Given the description of an element on the screen output the (x, y) to click on. 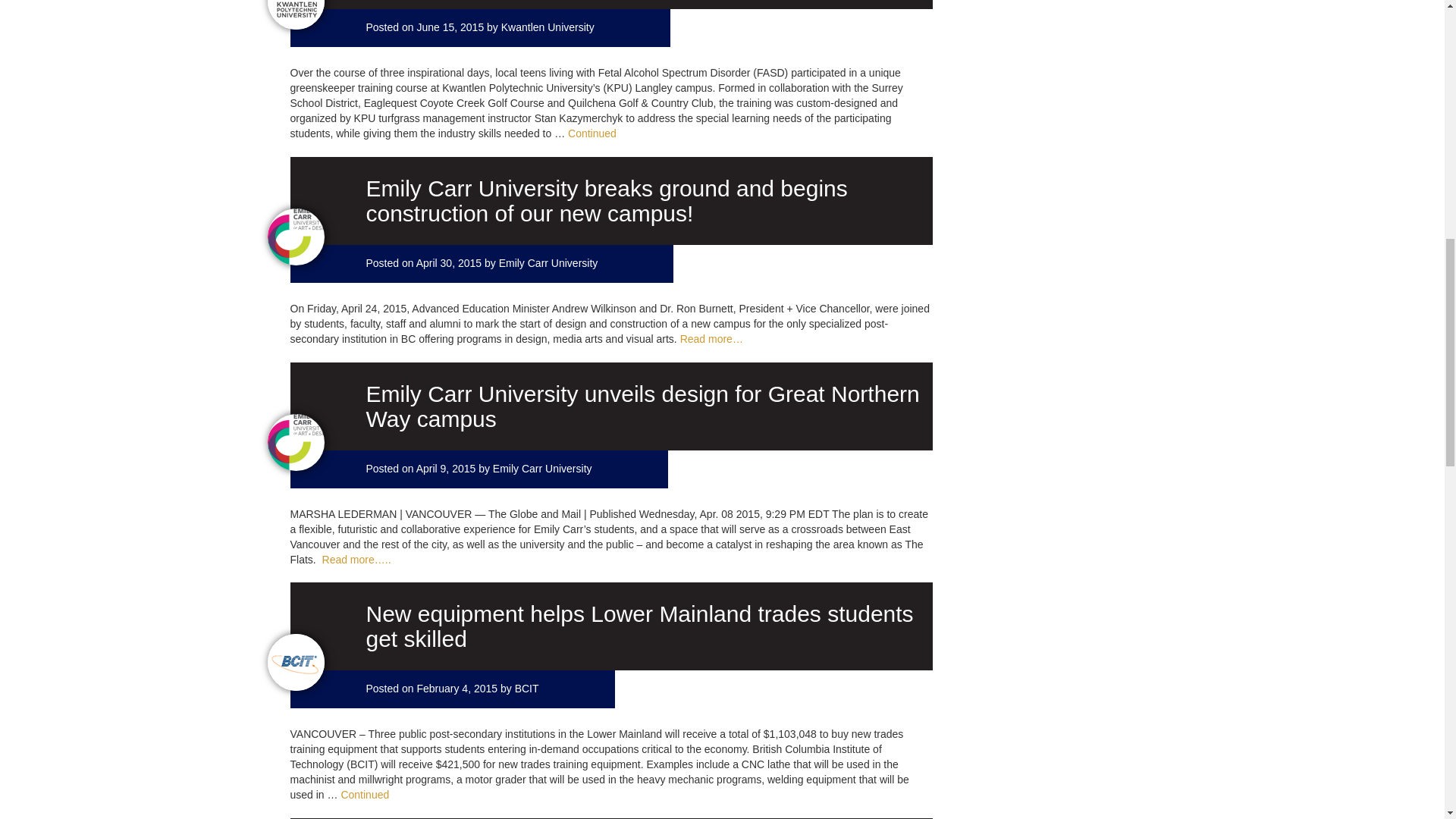
Continued (364, 794)
Continued (591, 133)
Emily Carr University (542, 468)
Kwantlen University (547, 27)
Emily Carr University (548, 263)
BCIT (526, 688)
